Given the description of an element on the screen output the (x, y) to click on. 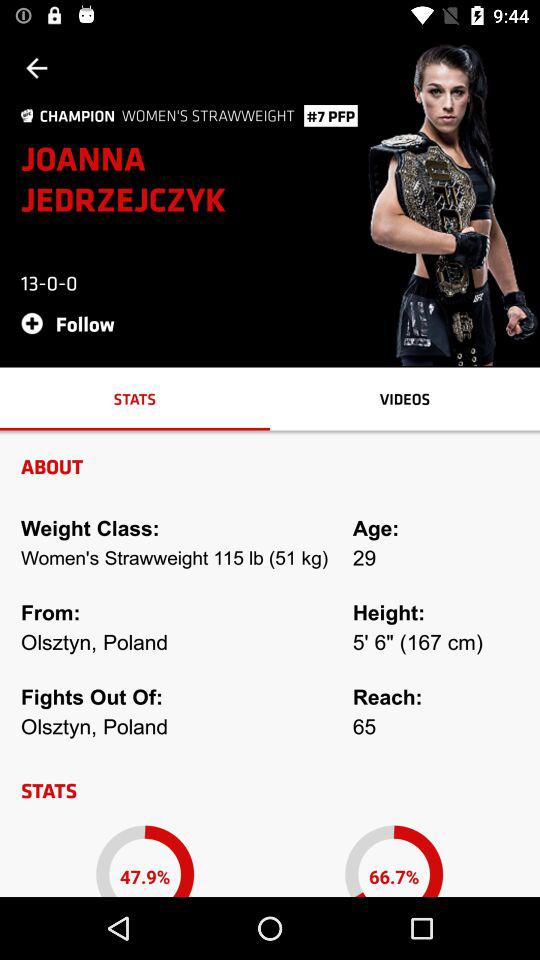
swipe to follow (74, 322)
